Given the description of an element on the screen output the (x, y) to click on. 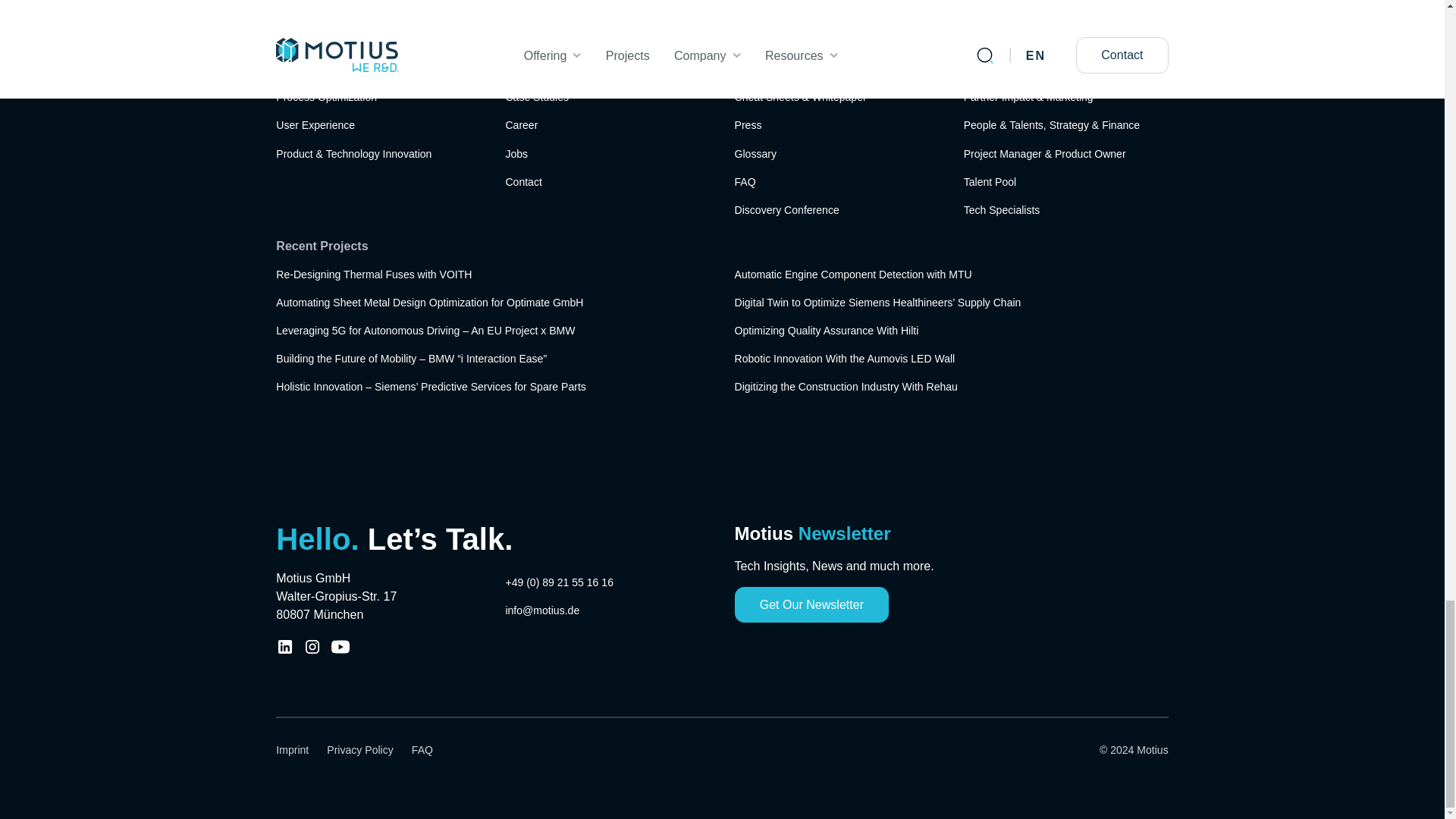
Contact (523, 182)
YouTube icon (340, 647)
Case Studies (537, 97)
Production Automation (329, 69)
Process Optimization (326, 97)
User Experience (315, 125)
About Us (526, 69)
Career (521, 125)
Blog (745, 69)
Jobs (516, 154)
